Given the description of an element on the screen output the (x, y) to click on. 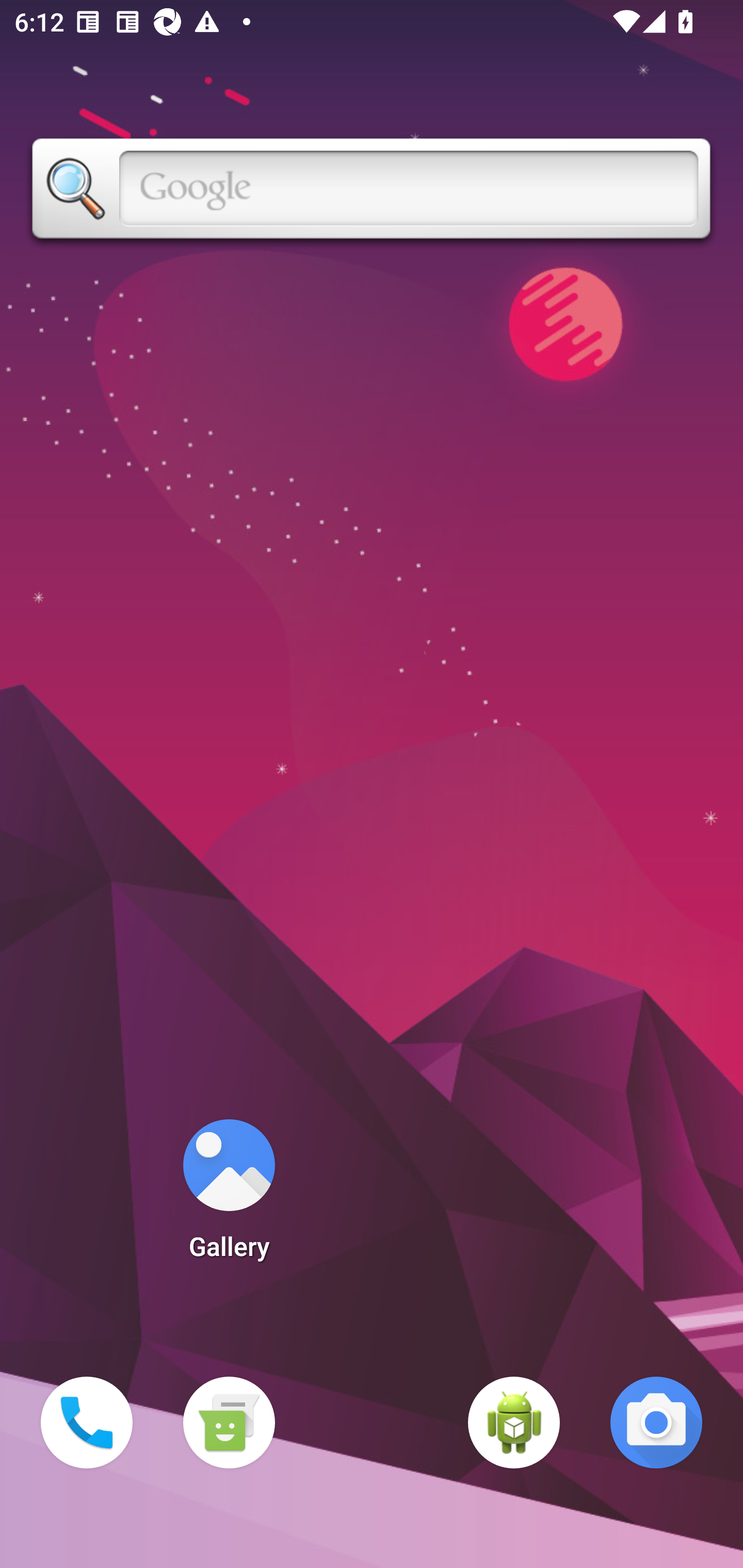
Gallery (228, 1195)
Phone (86, 1422)
Messaging (228, 1422)
WebView Browser Tester (513, 1422)
Camera (656, 1422)
